Given the description of an element on the screen output the (x, y) to click on. 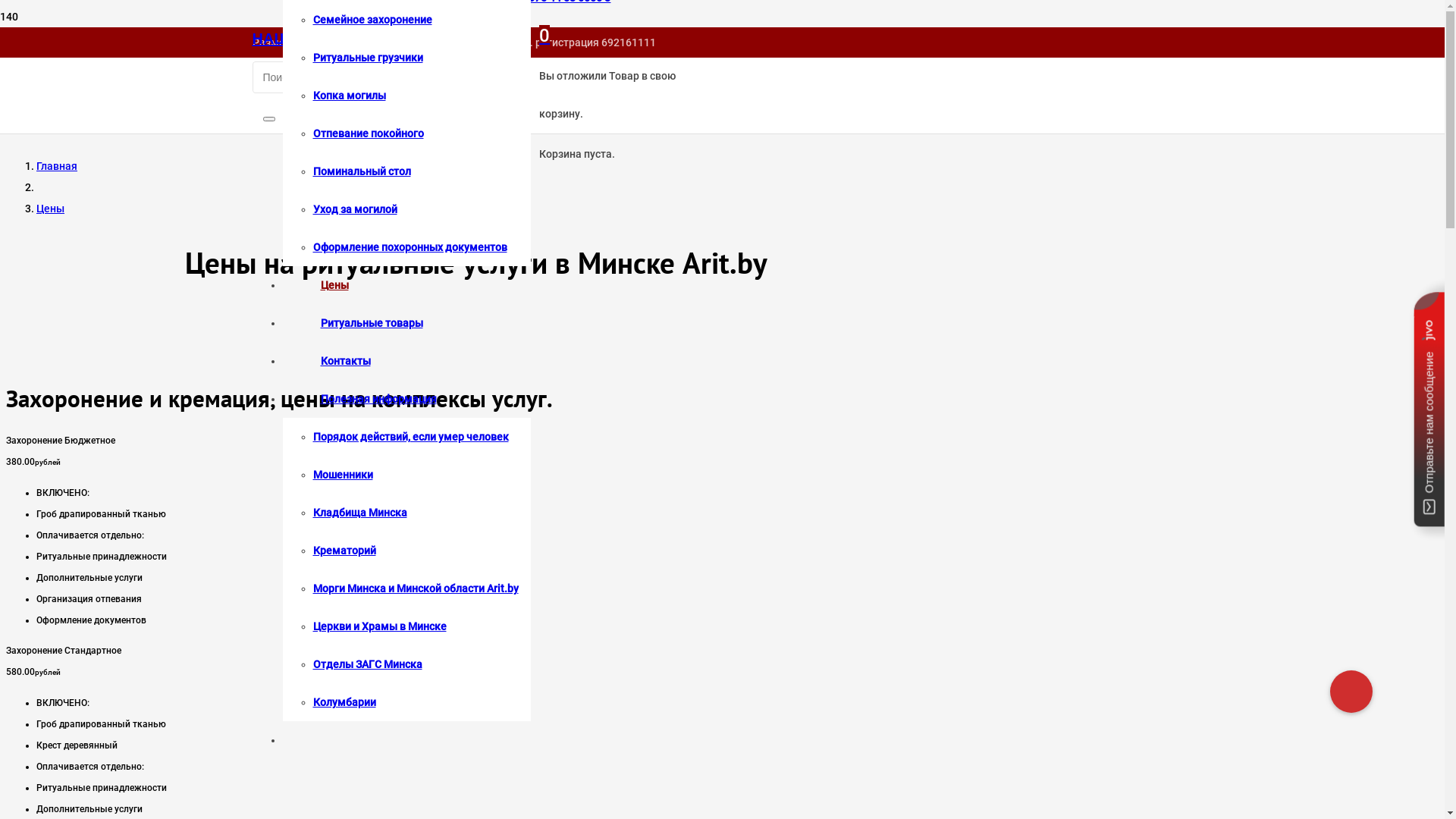
0 Element type: text (544, 34)
